Given the description of an element on the screen output the (x, y) to click on. 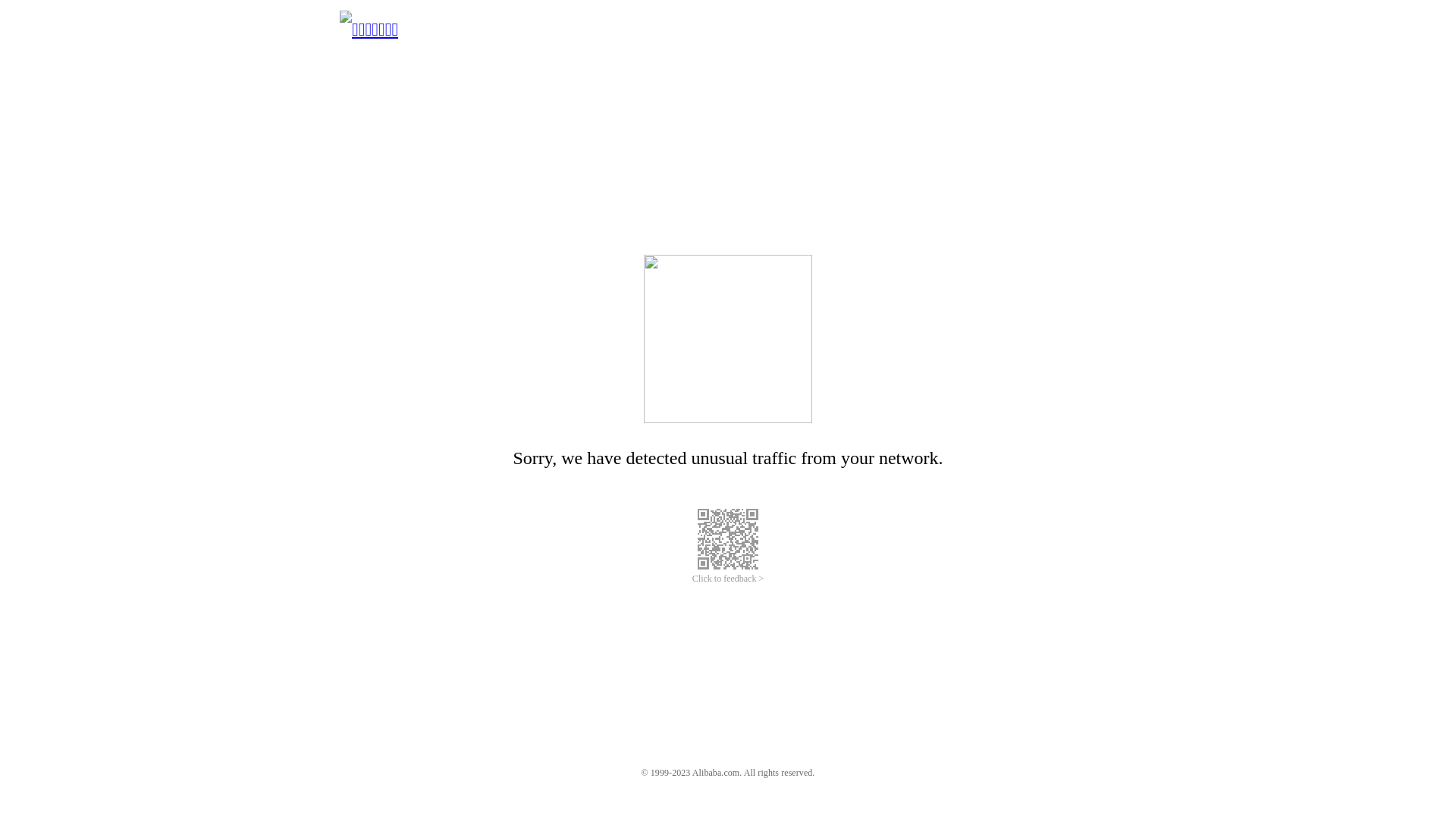
Click to feedback > Element type: text (727, 578)
